Given the description of an element on the screen output the (x, y) to click on. 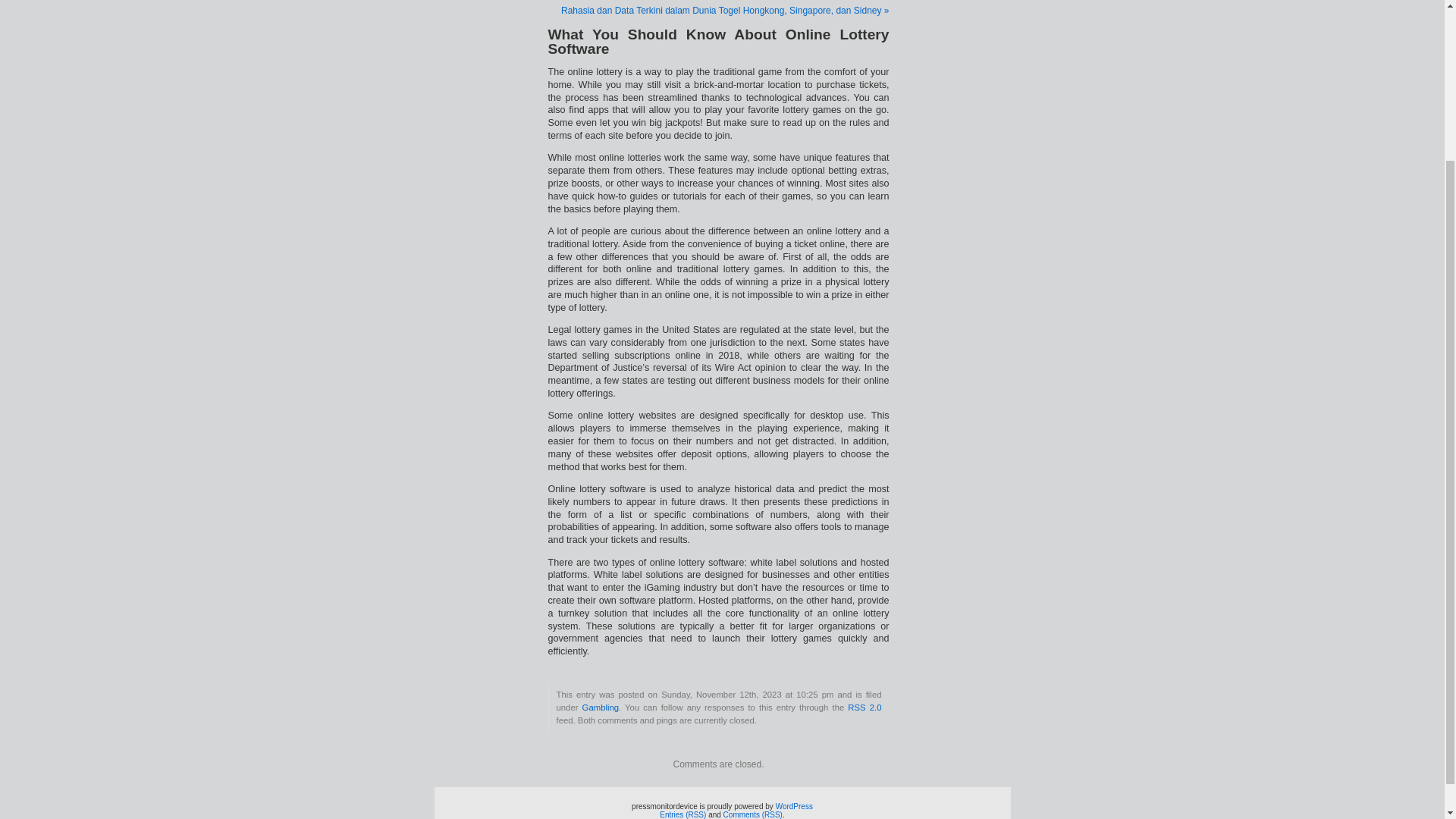
WordPress (794, 806)
Gambling (600, 706)
RSS 2.0 (863, 706)
